Given the description of an element on the screen output the (x, y) to click on. 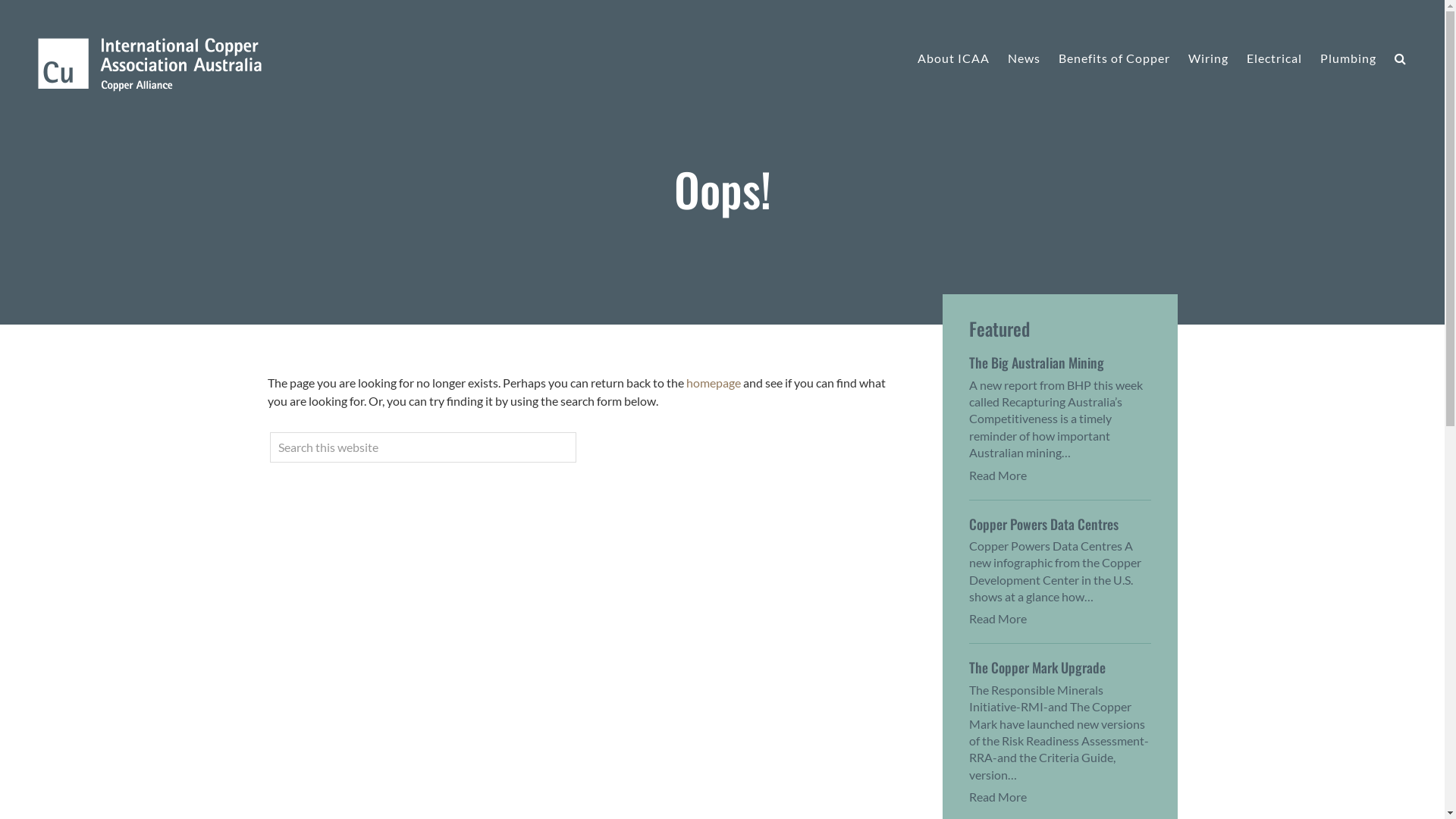
Read More Element type: text (997, 474)
The Big Australian Mining Element type: text (1036, 362)
Plumbing Element type: text (1347, 57)
Search Element type: text (574, 431)
homepage Element type: text (712, 382)
INTERNATIONAL COPPER ASSOCIATION AUSTRALIA Element type: text (149, 64)
Copper Powers Data Centres Element type: text (1043, 523)
Read More Element type: text (997, 796)
Search Element type: hover (1396, 57)
Read More Element type: text (997, 618)
About ICAA Element type: text (953, 57)
News Element type: text (1024, 57)
Electrical Element type: text (1274, 57)
Search Element type: text (1152, 165)
Wiring Element type: text (1208, 57)
Benefits of Copper Element type: text (1114, 57)
The Copper Mark Upgrade Element type: text (1037, 667)
